Given the description of an element on the screen output the (x, y) to click on. 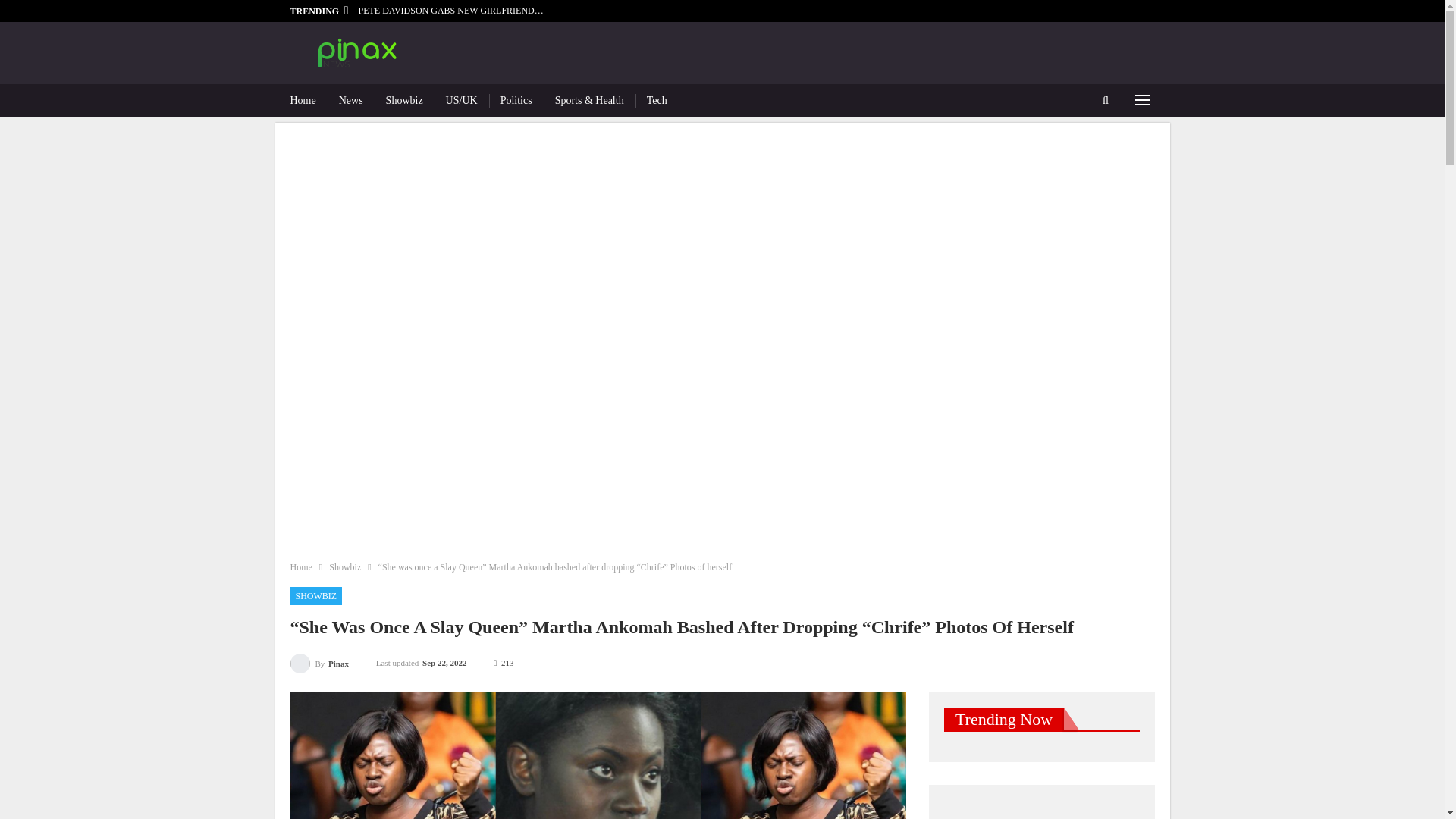
Showbiz (404, 100)
Browse Author Articles (319, 662)
SHOWBIZ (315, 596)
Showbiz (345, 566)
By Pinax (319, 662)
Home (300, 566)
Politics (516, 100)
